Given the description of an element on the screen output the (x, y) to click on. 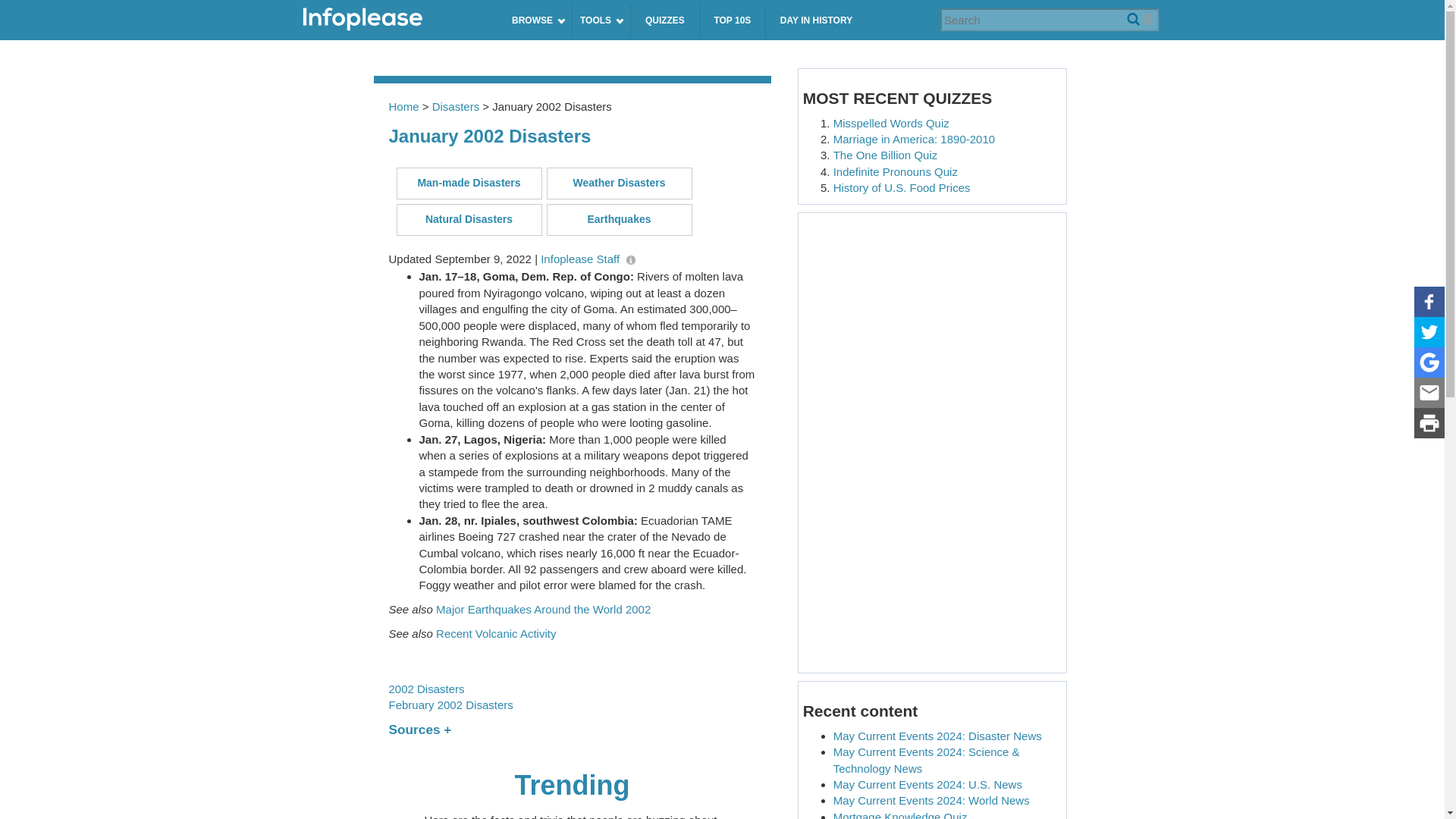
Home (395, 19)
